Given the description of an element on the screen output the (x, y) to click on. 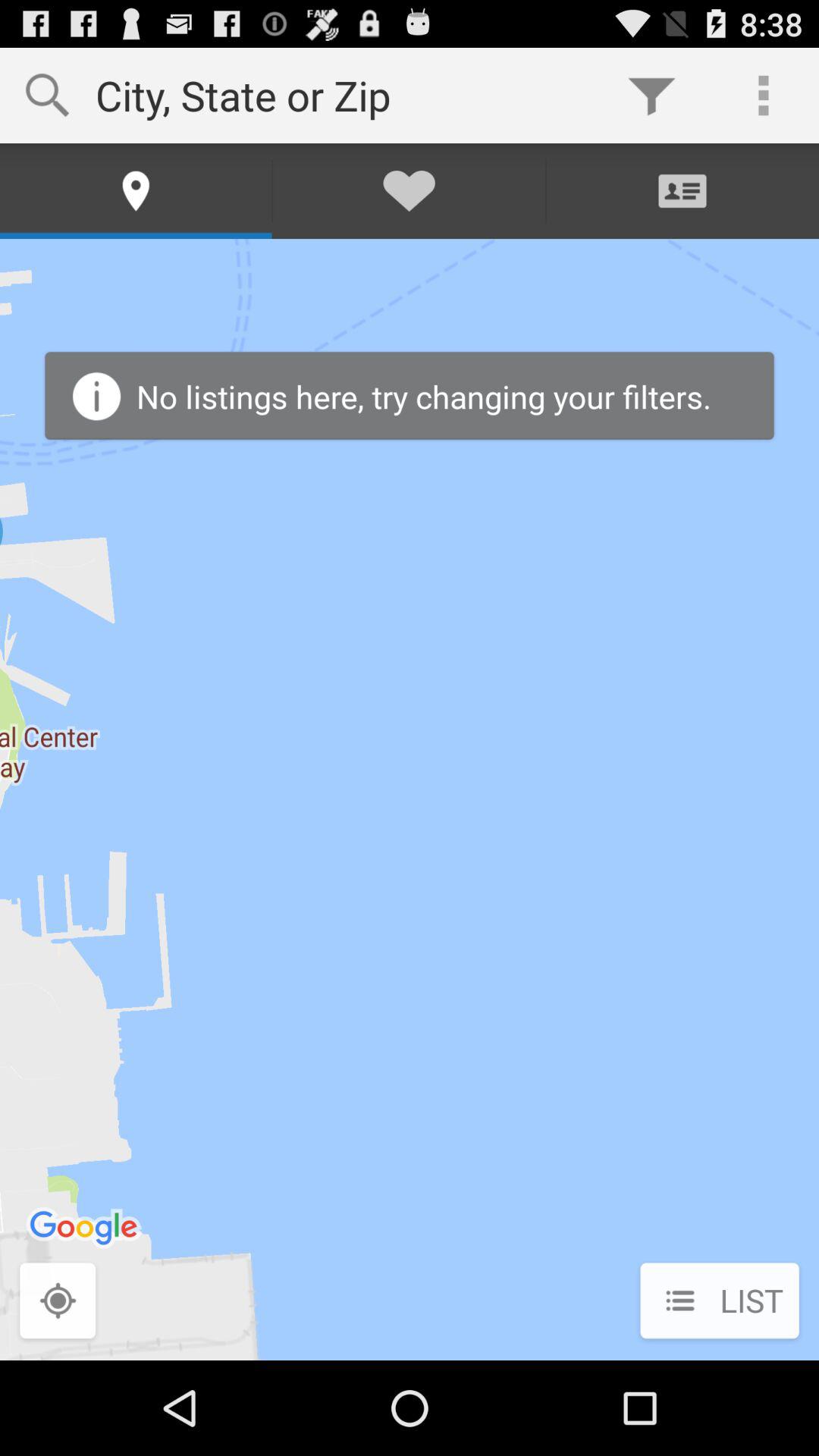
tap the item next to list icon (57, 1302)
